Given the description of an element on the screen output the (x, y) to click on. 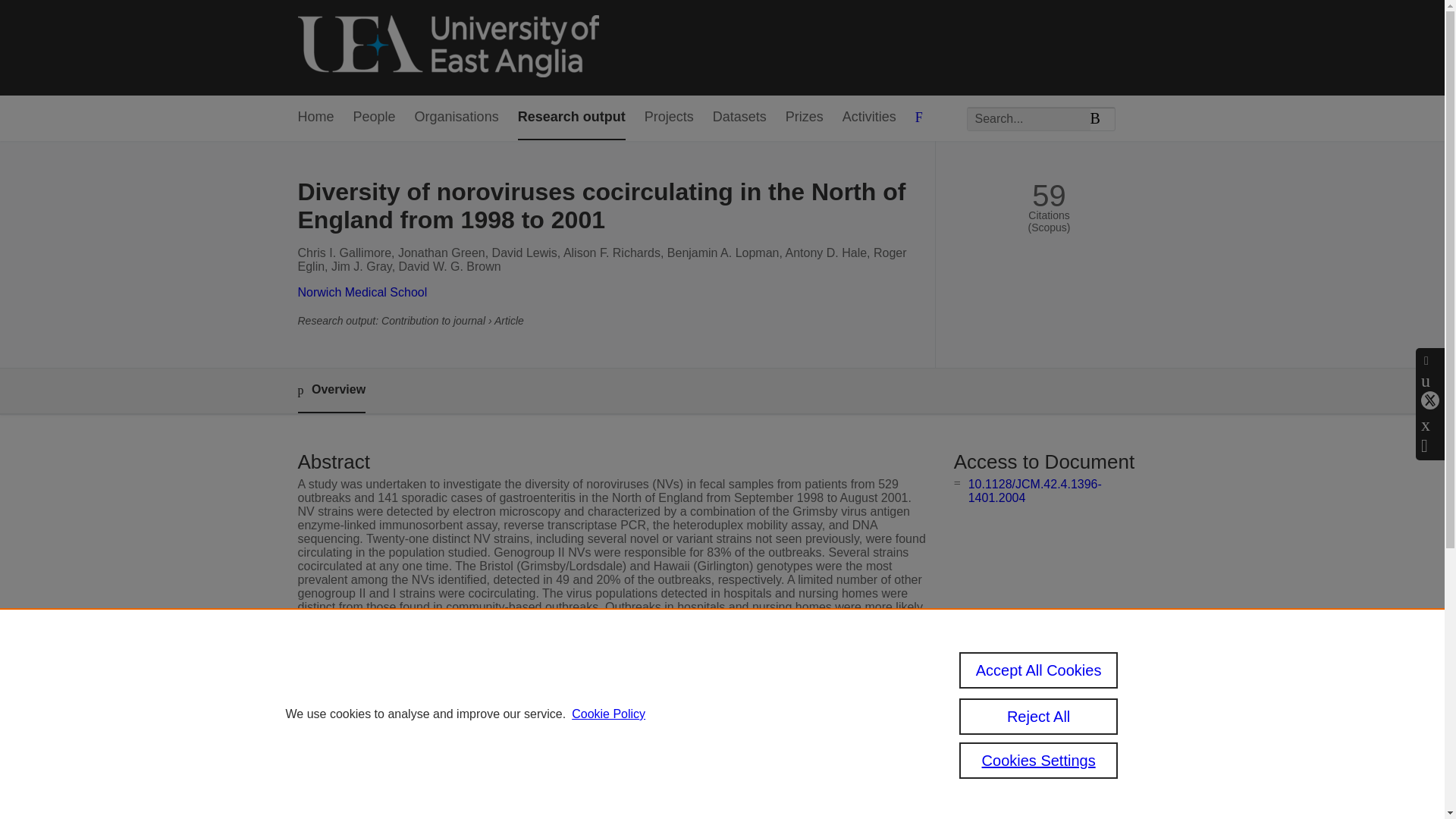
Overview (331, 390)
Norwich Medical School (361, 291)
Research output (572, 117)
Cookie Policy (608, 713)
Organisations (456, 117)
Reject All (1038, 716)
Datasets (740, 117)
University of East Anglia Home (447, 47)
Activities (869, 117)
Projects (669, 117)
Journal of Clinical Microbiology (592, 711)
Cookies Settings (1038, 760)
People (374, 117)
